Given the description of an element on the screen output the (x, y) to click on. 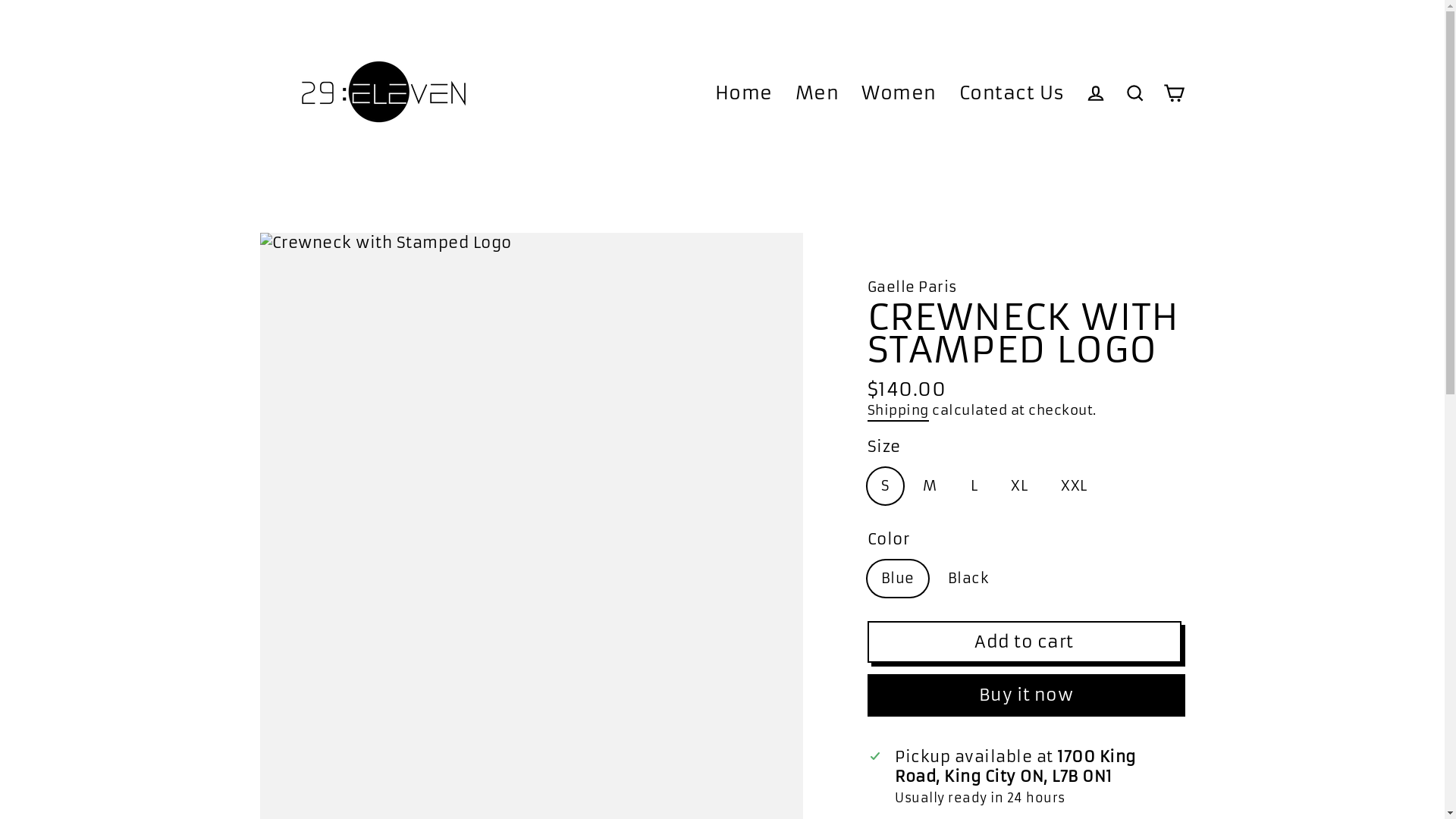
Shipping Element type: text (897, 411)
Contact Us Element type: text (1011, 93)
Women Element type: text (898, 93)
Search Element type: text (1134, 93)
Skip to content Element type: text (0, 0)
Home Element type: text (743, 93)
Men Element type: text (817, 93)
Cart Element type: text (1173, 93)
Add to cart Element type: text (1024, 641)
Buy it now Element type: text (1026, 694)
Log in Element type: text (1094, 93)
